Given the description of an element on the screen output the (x, y) to click on. 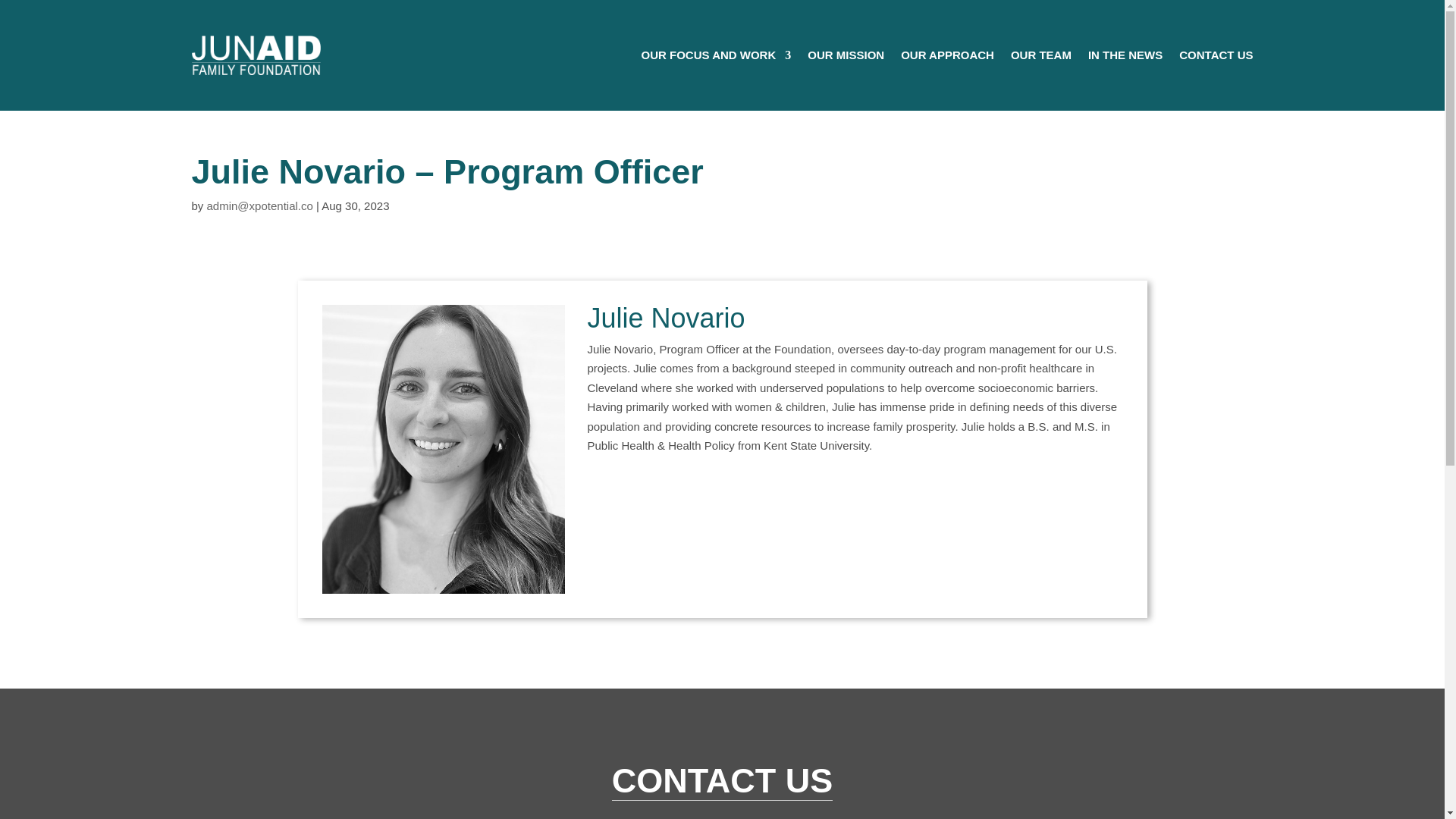
OUR APPROACH (947, 55)
OUR FOCUS AND WORK (717, 55)
OUR TEAM (1040, 55)
CONTACT US (1215, 55)
IN THE NEWS (1124, 55)
OUR MISSION (845, 55)
